Given the description of an element on the screen output the (x, y) to click on. 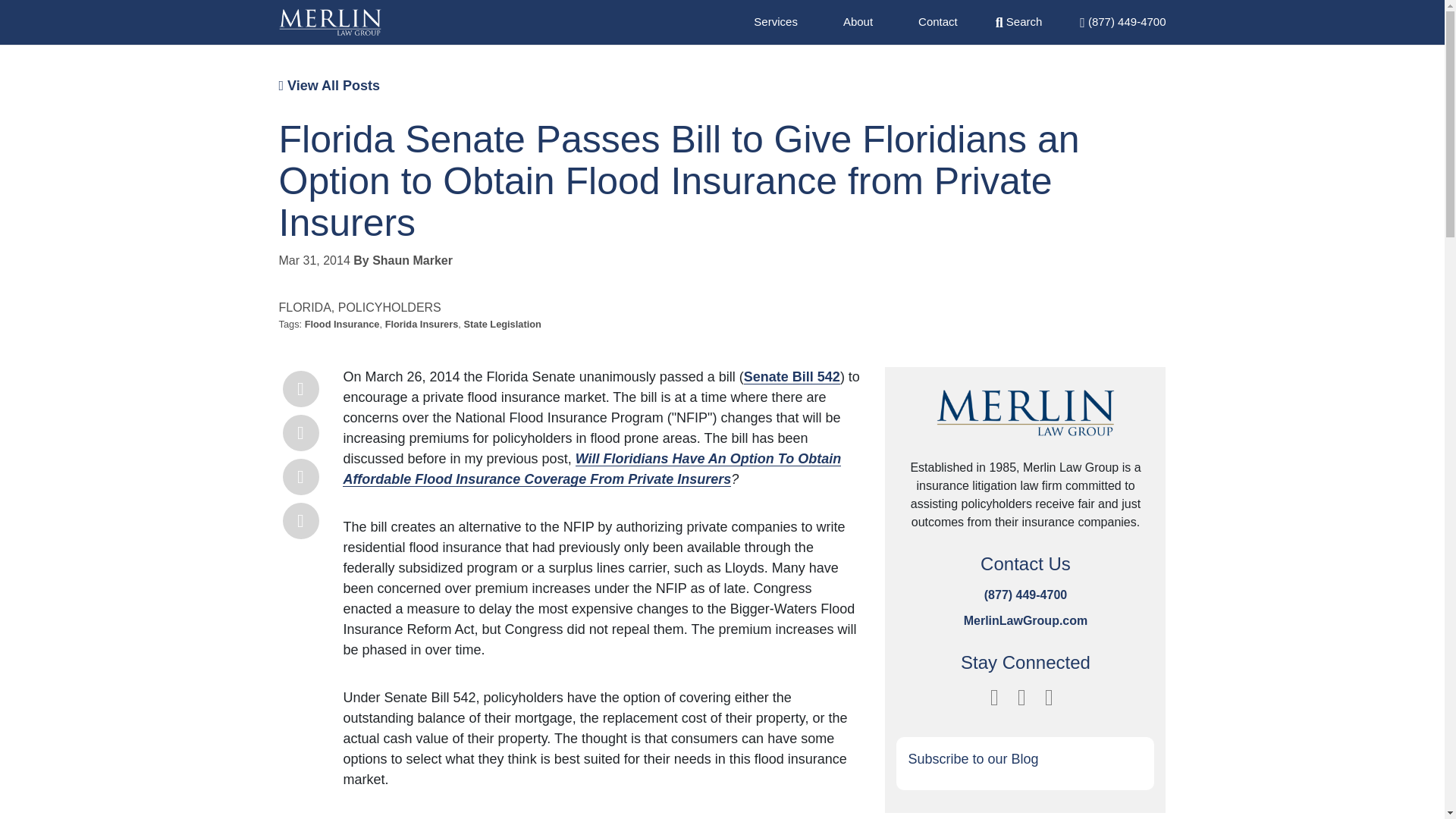
MerlinLawGroup.com (1025, 620)
Search (1018, 21)
By Shaun Marker (402, 259)
View All Posts (329, 85)
Senate Bill 542 (792, 376)
Property Insurance Coverage Law Blog (330, 22)
FLORIDA (305, 307)
Florida Insurers (421, 324)
Services (775, 21)
Menu (1123, 21)
